Given the description of an element on the screen output the (x, y) to click on. 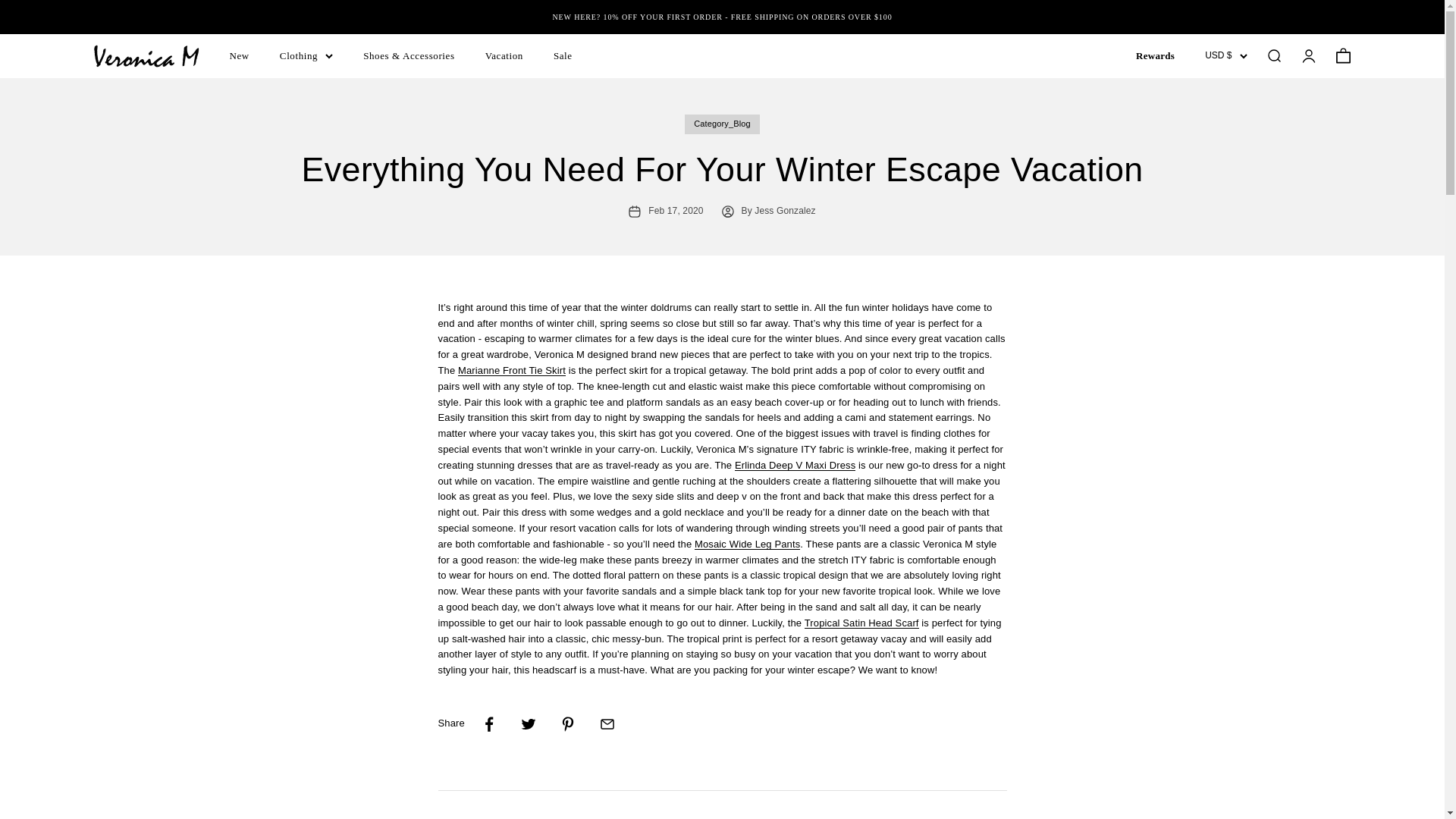
Vacation (503, 55)
Open account page (1308, 55)
Rewards (1154, 55)
New (238, 55)
Sale (562, 55)
Smile.io Rewards Program Launcher (1397, 788)
Open search (1343, 55)
